Given the description of an element on the screen output the (x, y) to click on. 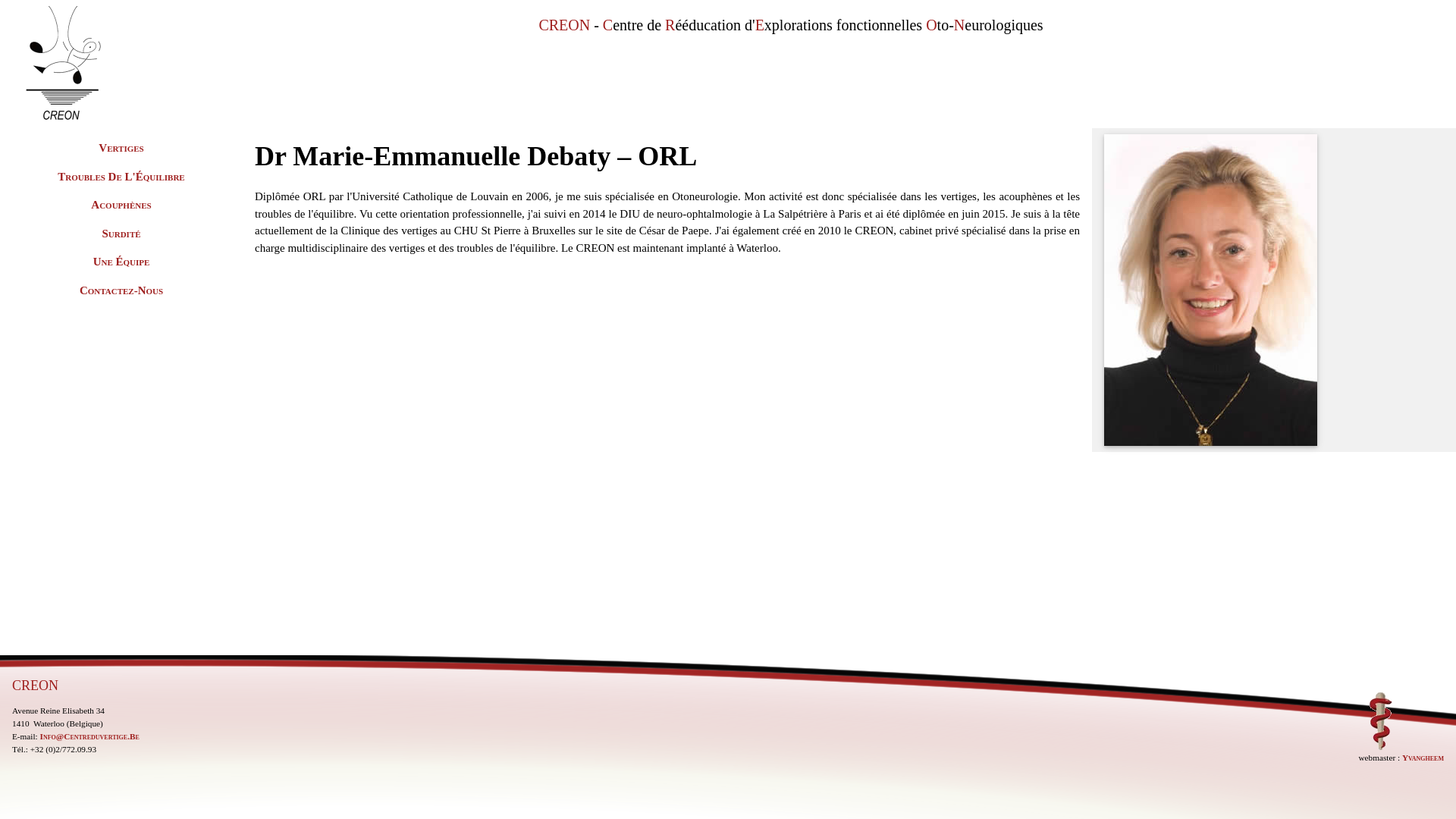
Contactez-Nous Element type: text (121, 289)
Yvangheem Element type: text (1422, 757)
Info@Centreduvertige.Be Element type: text (88, 735)
Vertiges Element type: text (120, 147)
